Given the description of an element on the screen output the (x, y) to click on. 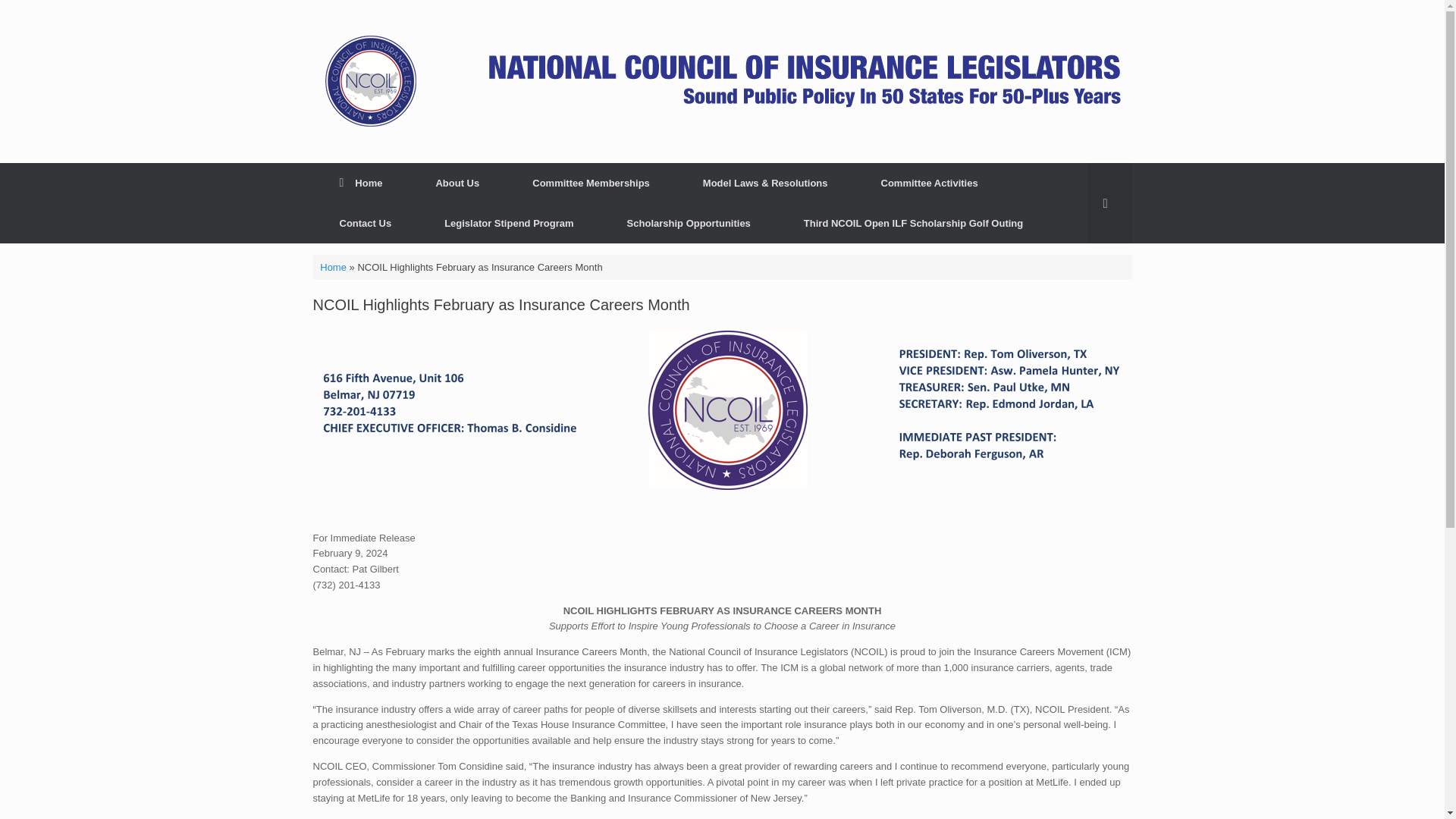
Committee Activities (929, 182)
Contact Us (365, 223)
About Us (457, 182)
NCOIL (722, 81)
Committee Memberships (591, 182)
Home (361, 182)
